Given the description of an element on the screen output the (x, y) to click on. 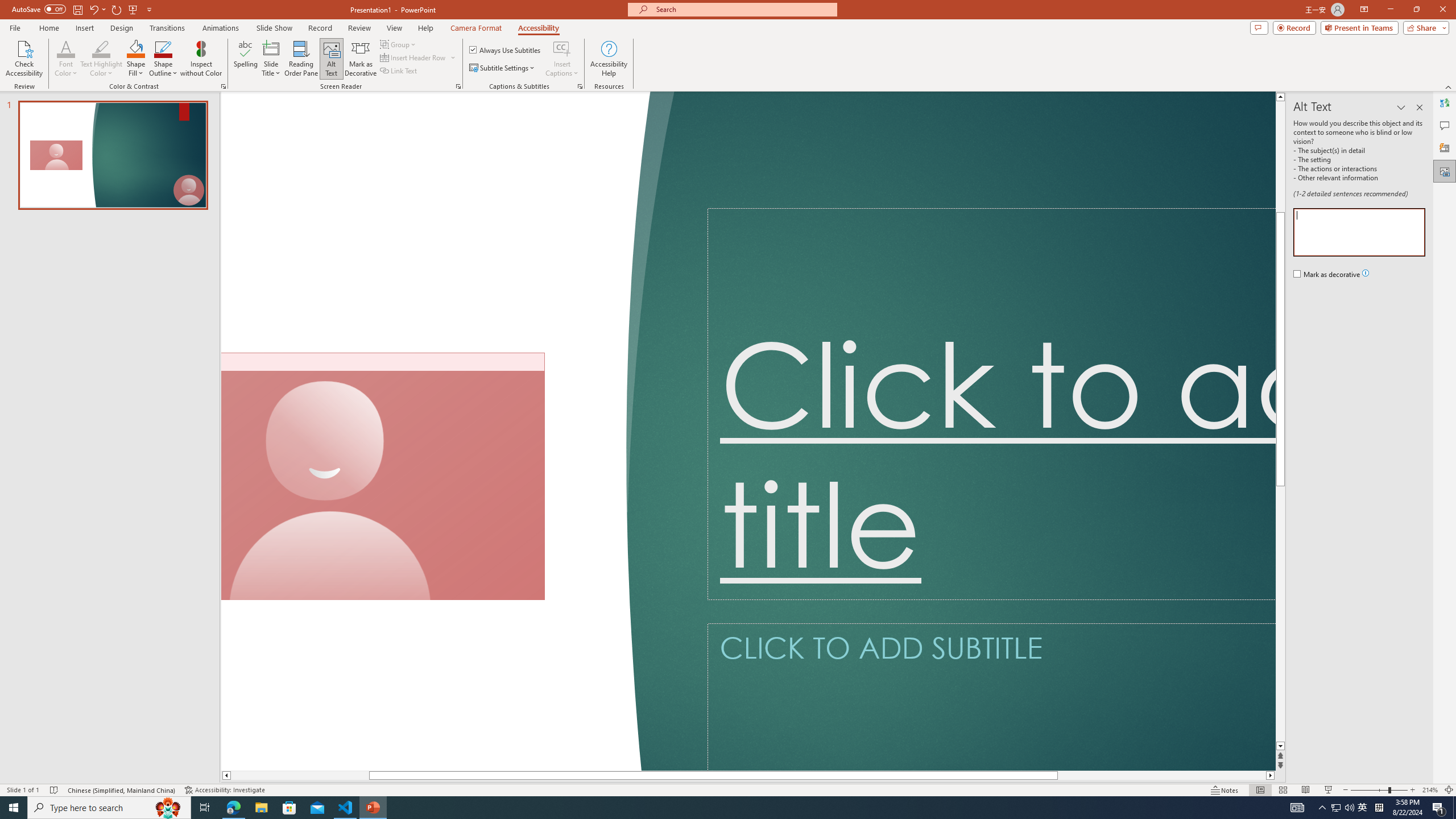
Insert Header Row (418, 56)
Color & Contrast (223, 85)
Slide Title (271, 58)
